Given the description of an element on the screen output the (x, y) to click on. 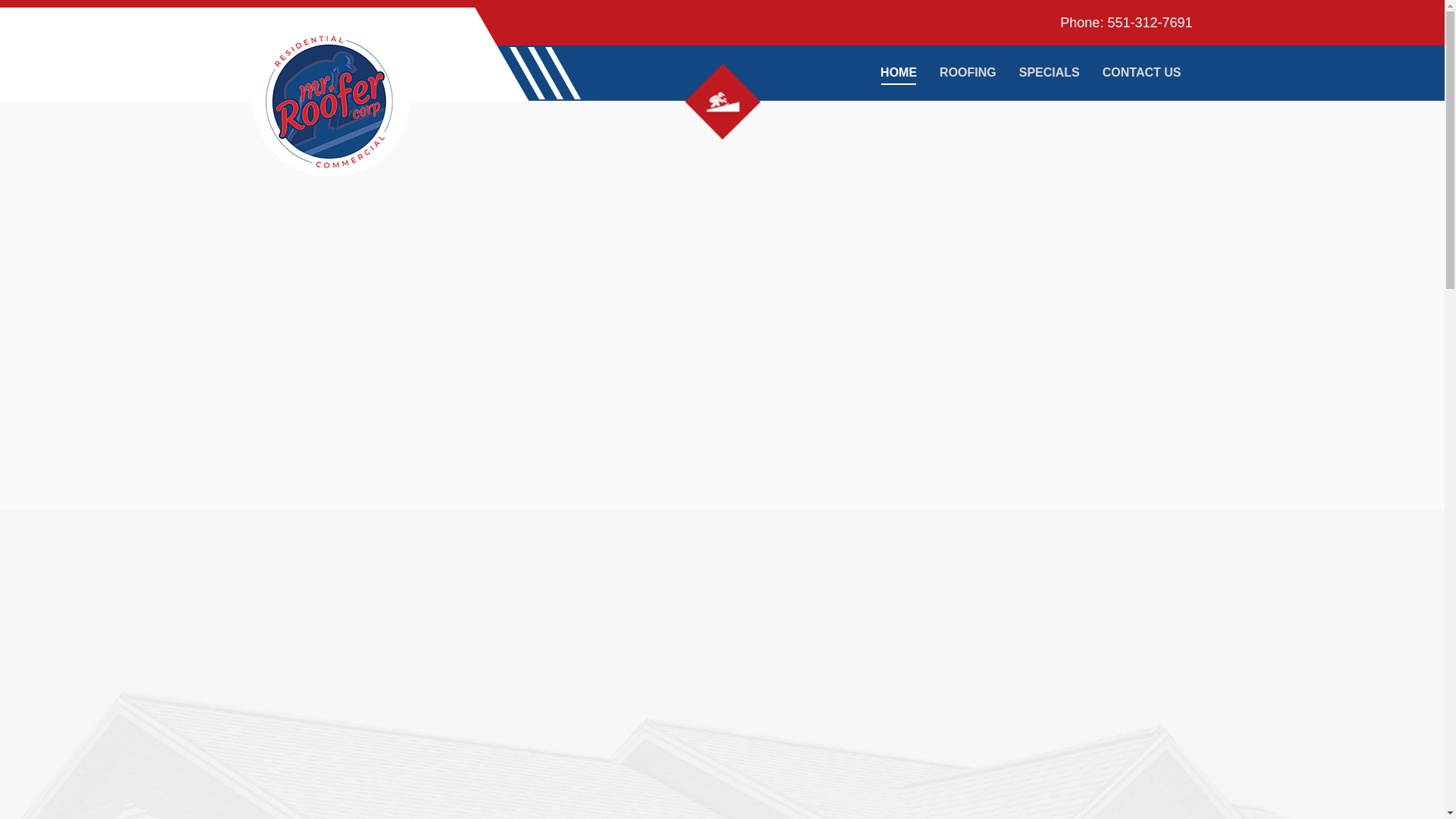
CONTACT US (1141, 72)
ROOFING (967, 72)
3 (722, 101)
551-312-7691 (1149, 22)
HOME (898, 72)
SPECIALS (1048, 72)
